Given the description of an element on the screen output the (x, y) to click on. 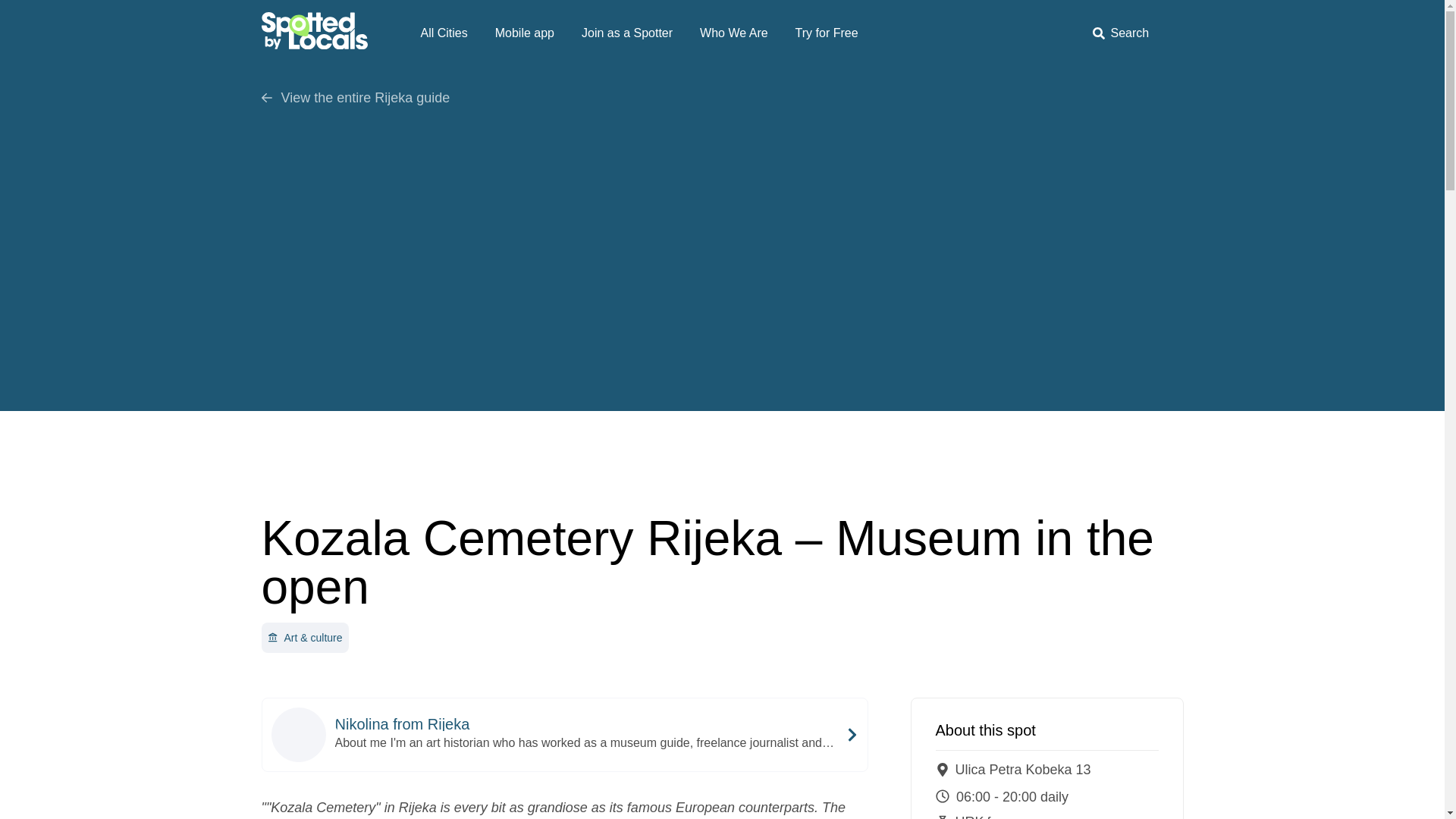
Join as a Spotter (626, 33)
Who We Are (734, 33)
Mobile app (524, 33)
All Cities (443, 33)
View the entire Rijeka guide (721, 97)
Try for Free (826, 33)
